Given the description of an element on the screen output the (x, y) to click on. 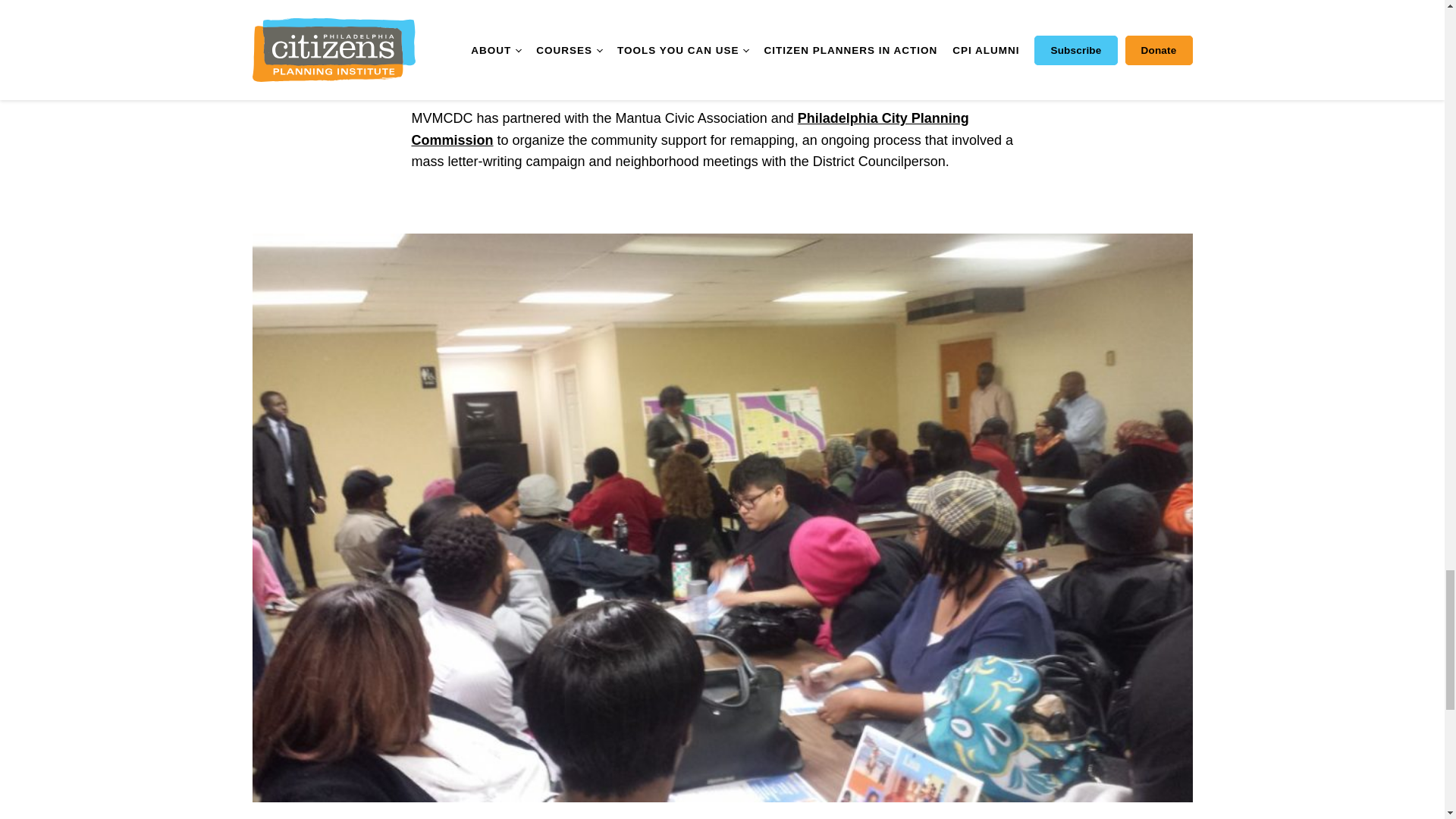
Mantua Civic Association (699, 9)
Philadelphia City Planning Commission (689, 129)
